Given the description of an element on the screen output the (x, y) to click on. 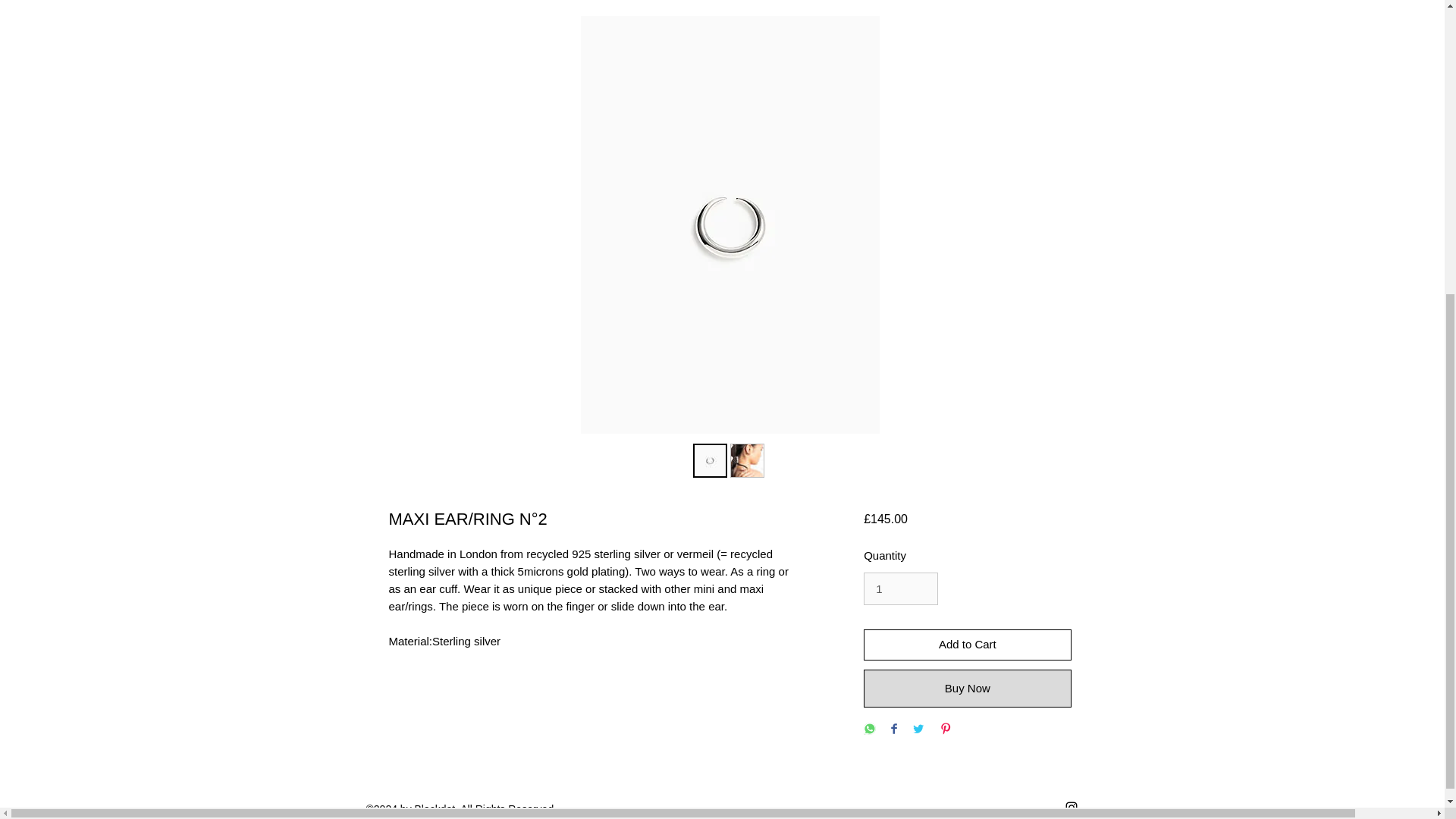
Add to Cart (966, 644)
Buy Now (966, 688)
1 (900, 589)
